Given the description of an element on the screen output the (x, y) to click on. 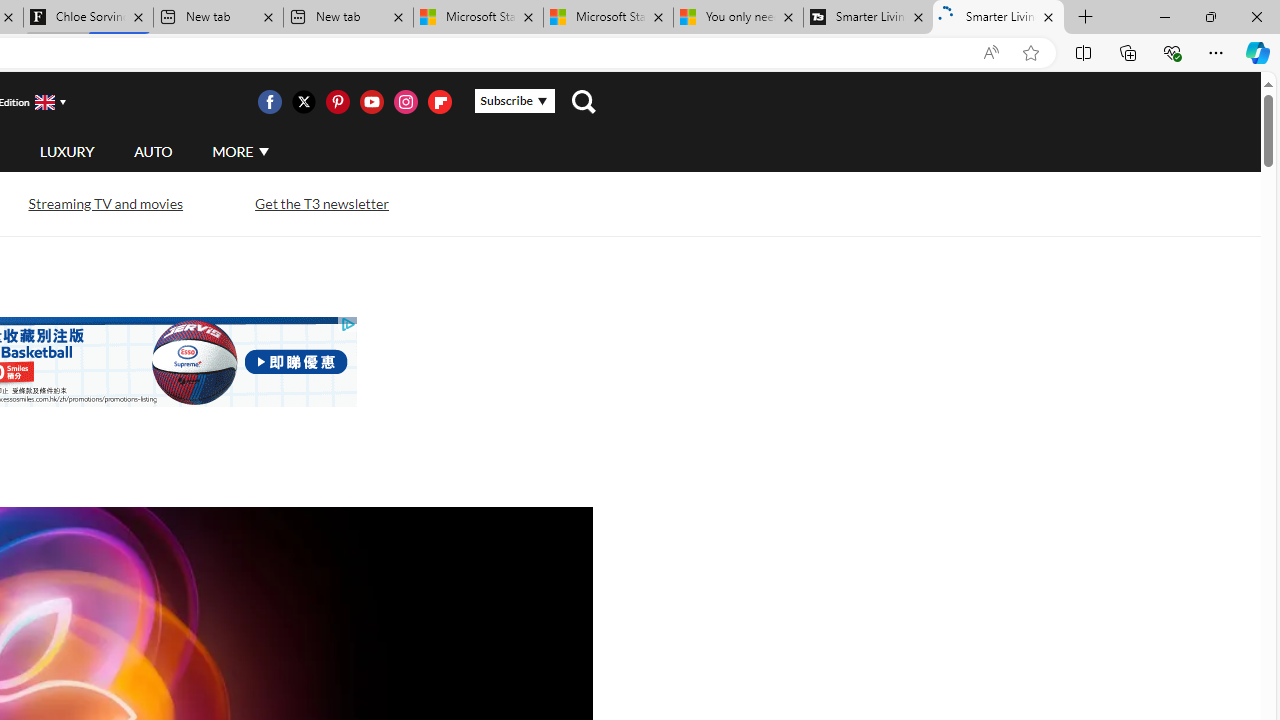
LUXURY (66, 151)
AUTO (153, 151)
Visit us on Instagram (405, 101)
Chloe Sorvino (88, 17)
Class: svg-arrow-down (264, 151)
